Given the description of an element on the screen output the (x, y) to click on. 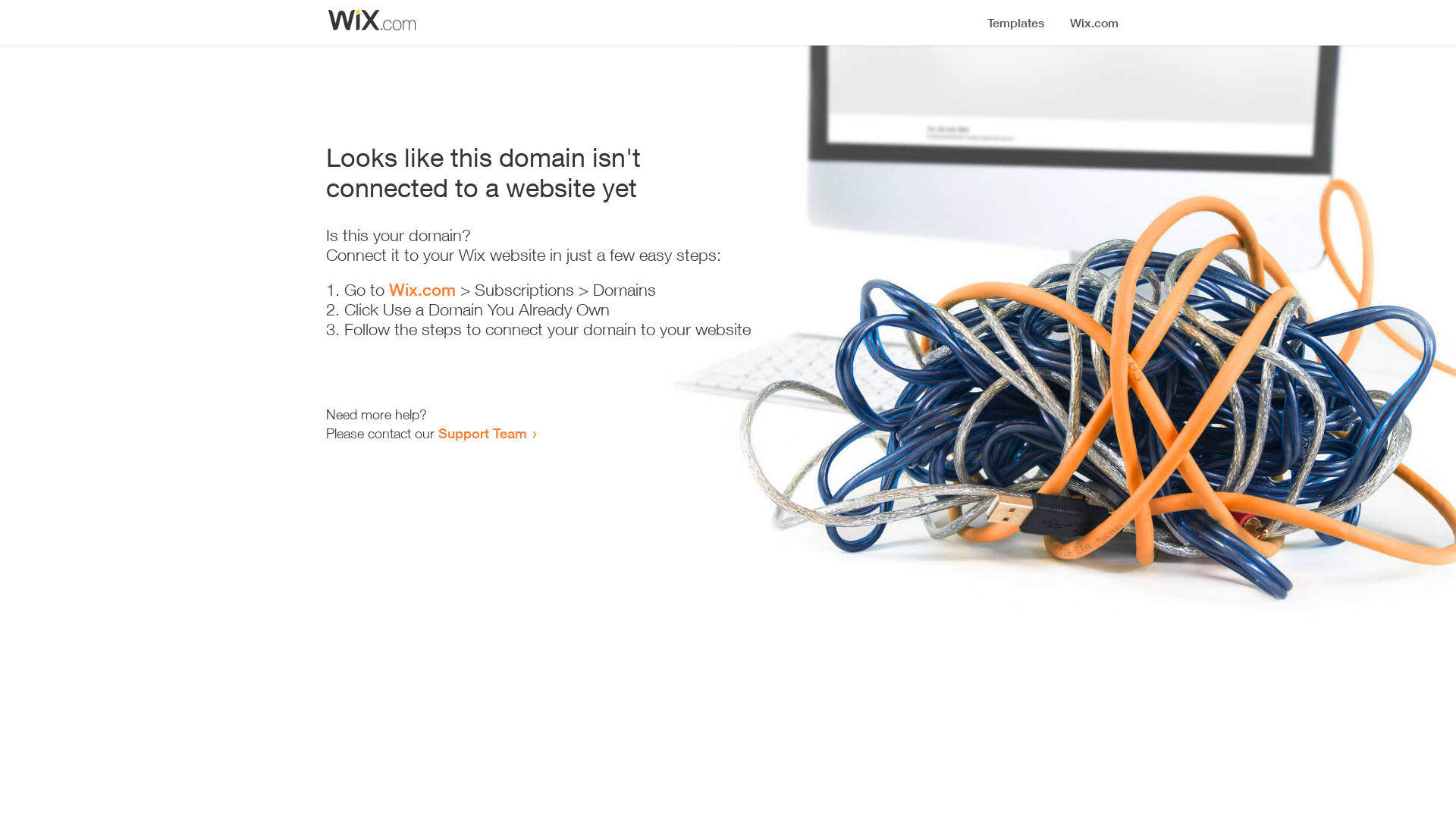
Support Team Element type: text (482, 432)
Wix.com Element type: text (422, 289)
